Given the description of an element on the screen output the (x, y) to click on. 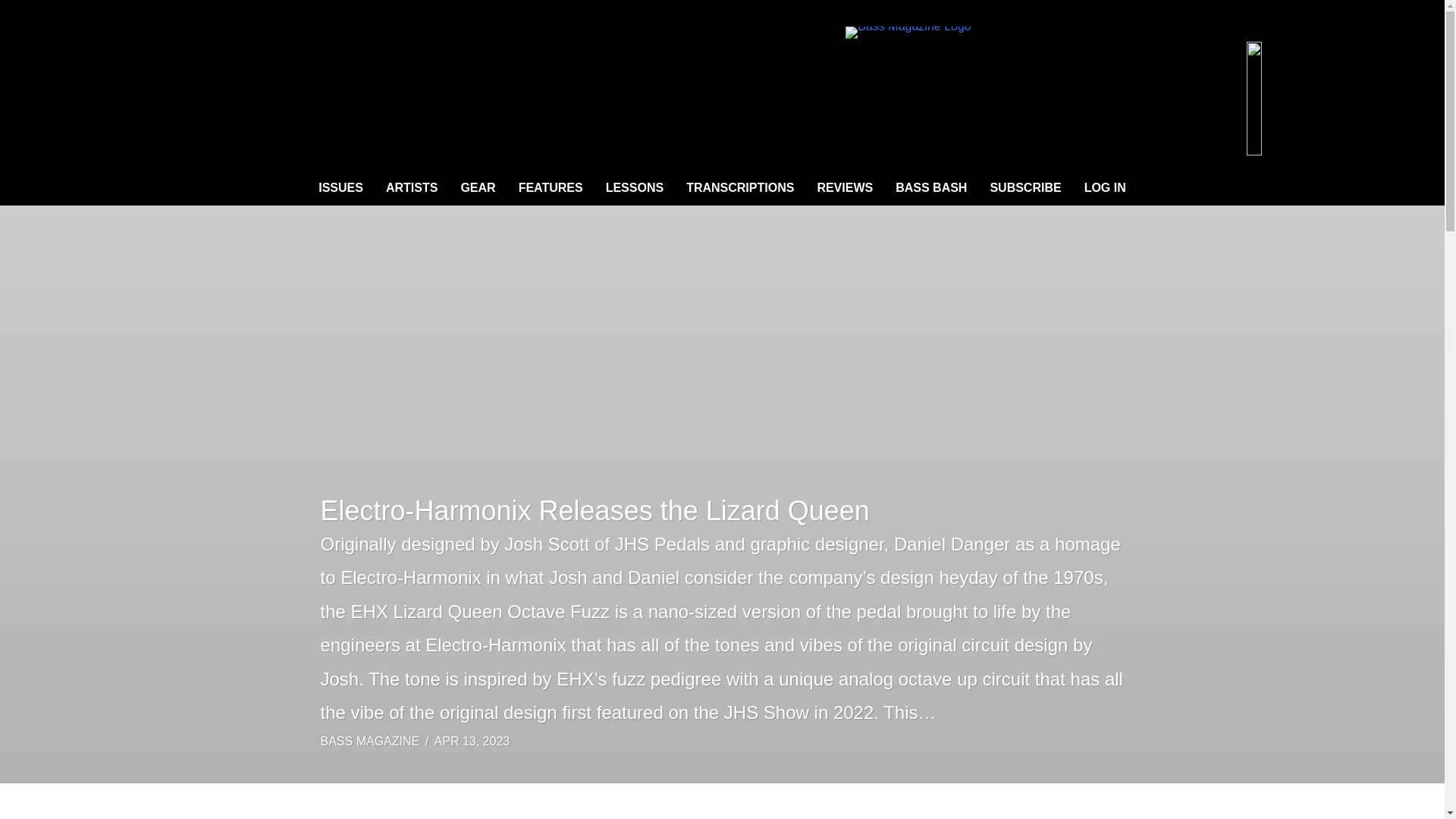
Bass Magazine Logo (908, 32)
Issue 13 (1217, 97)
